Given the description of an element on the screen output the (x, y) to click on. 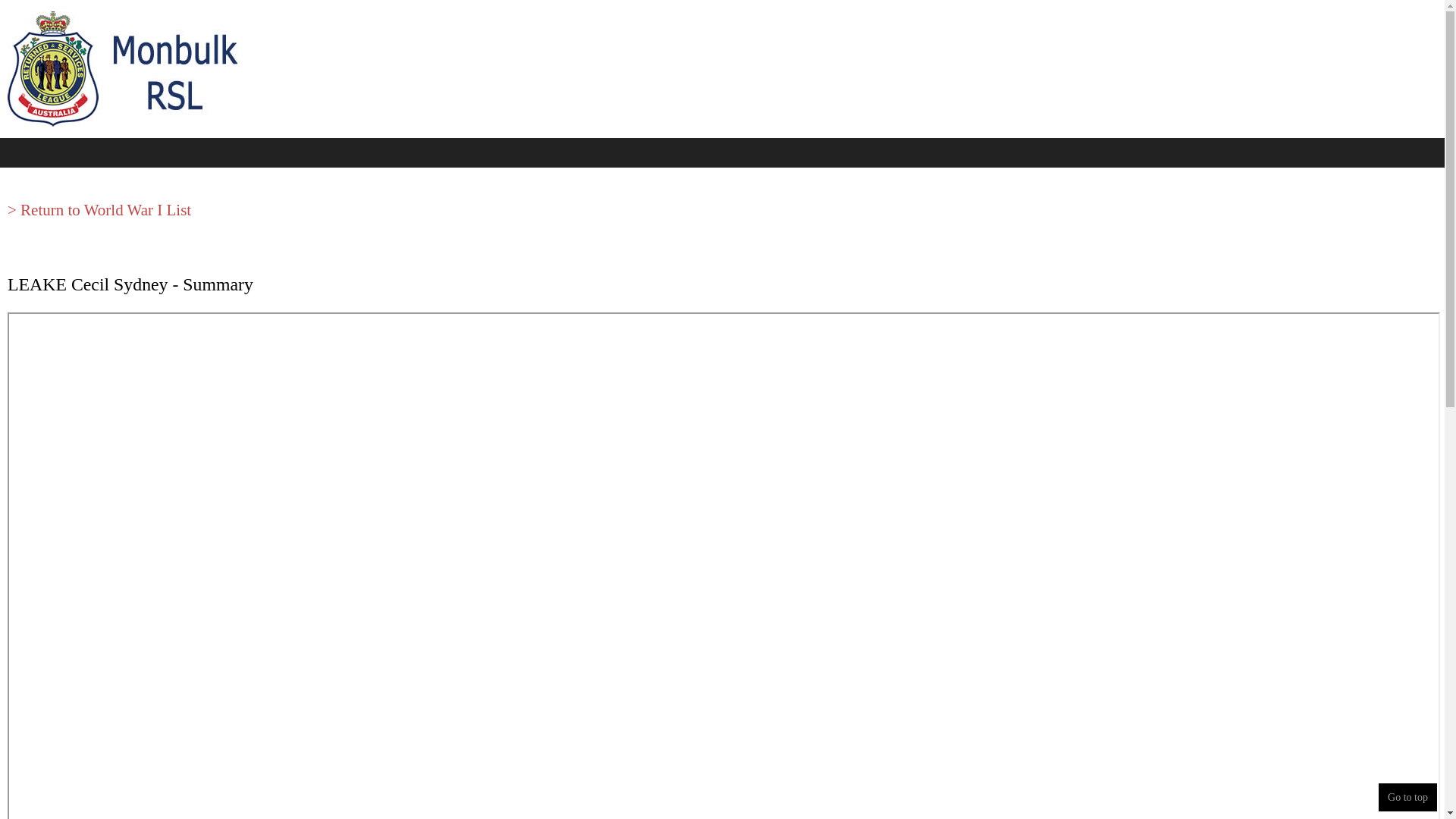
Return to World War I List Element type: text (105, 209)
Monbulk RSL Sub Branch Element type: hover (132, 68)
Go to top Element type: text (1407, 797)
